Given the description of an element on the screen output the (x, y) to click on. 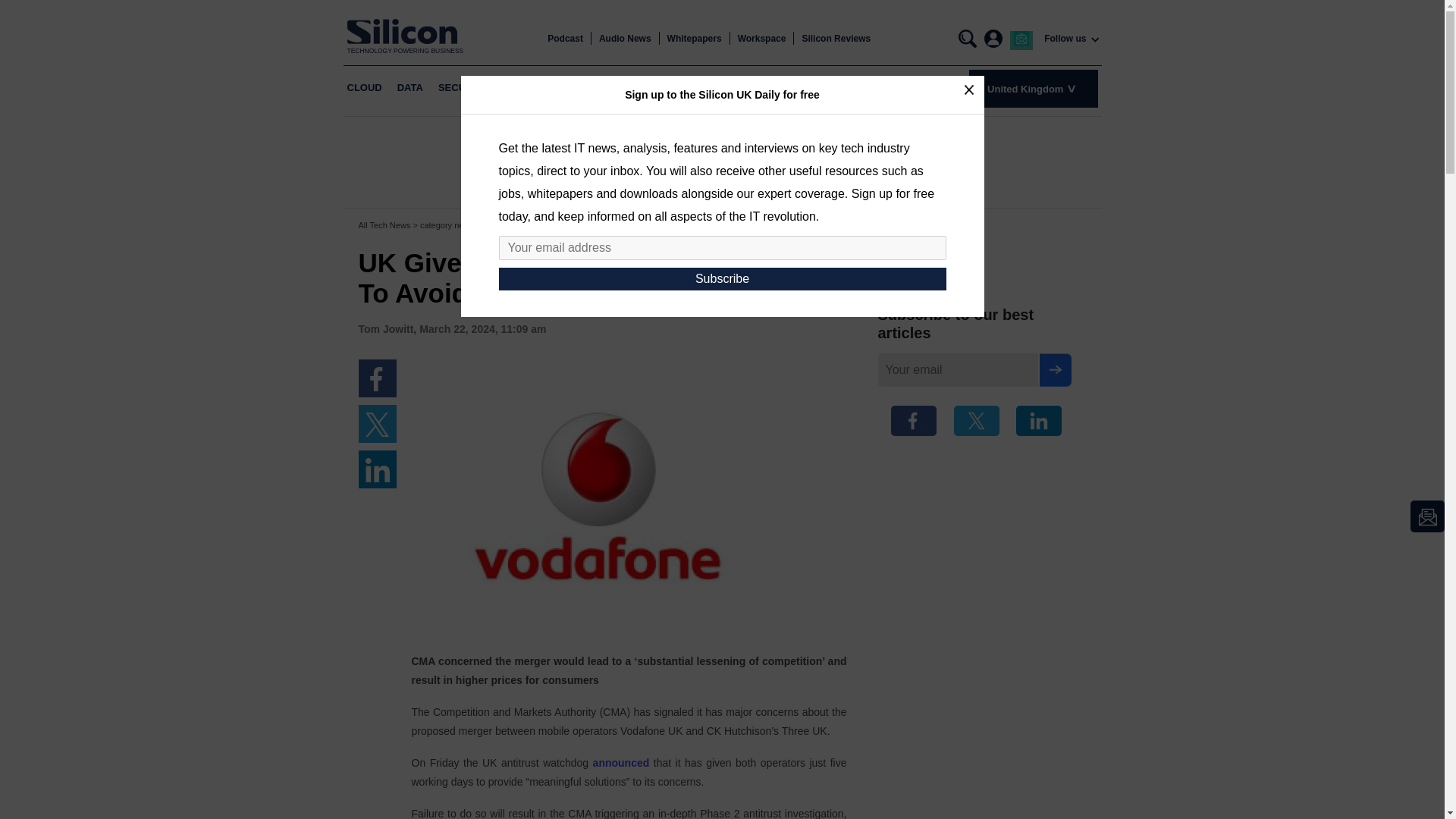
Audio News (624, 38)
DATA (409, 87)
Follow us (1064, 38)
SECURITY (462, 87)
ENTREPRENEUR (677, 87)
Silicon UK (405, 31)
FINANCE (599, 87)
CLOUD (363, 87)
Podcast (565, 38)
MARKETING (533, 87)
Workspace (762, 38)
IT LIFE (750, 87)
Whitepapers (694, 38)
United Kingdom (1033, 88)
Silicon Reviews (836, 38)
